Given the description of an element on the screen output the (x, y) to click on. 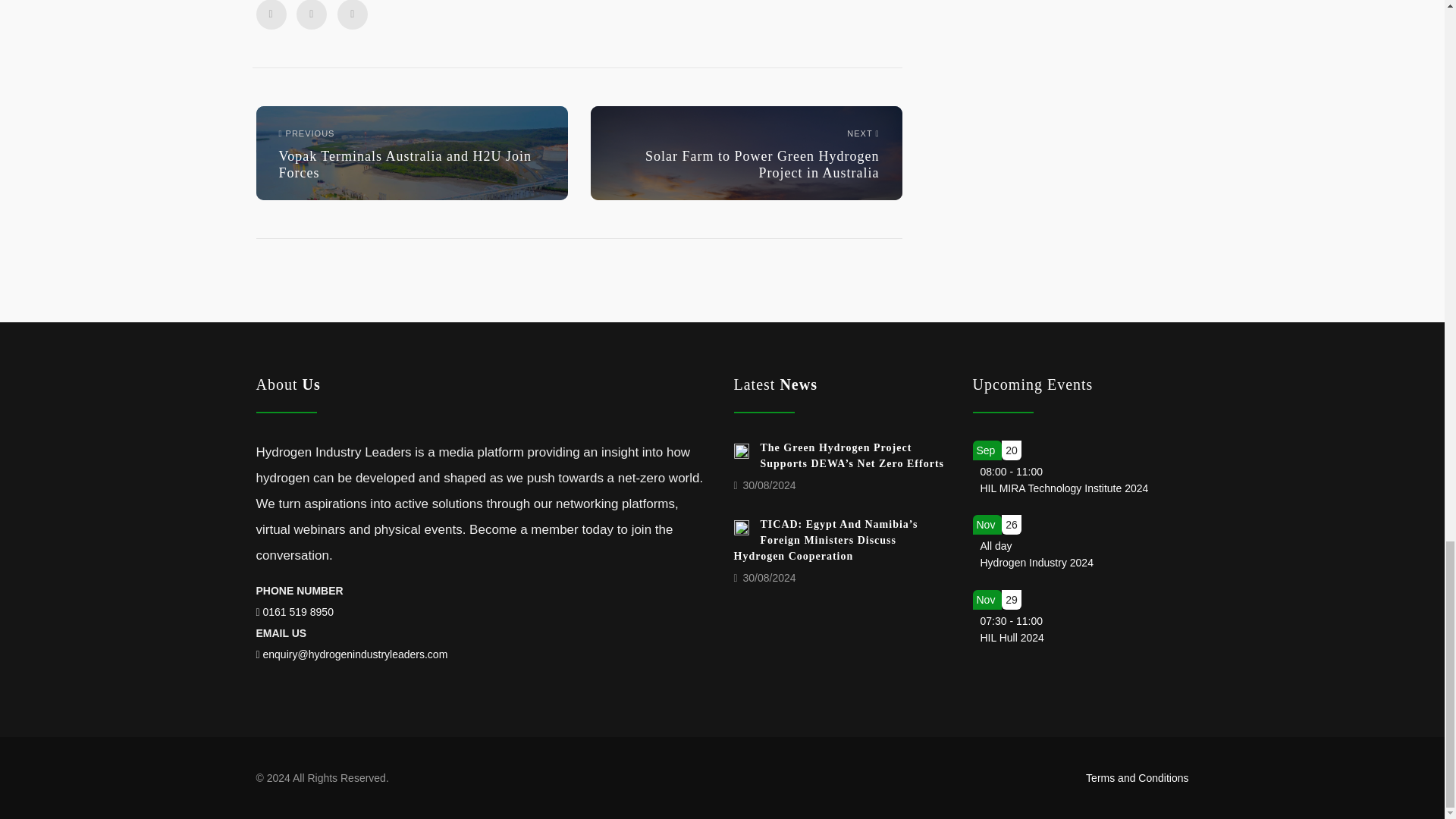
Hydrogen Industry 2024 (1036, 562)
HIL MIRA Technology Institute 2024 (1063, 488)
HIL Hull 2024 (1011, 637)
HIL Hull 2024 (745, 152)
0161 519 8950 (1011, 637)
Hydrogen Industry 2024 (298, 612)
Email this (1036, 562)
Share on Twitter (352, 14)
